Given the description of an element on the screen output the (x, y) to click on. 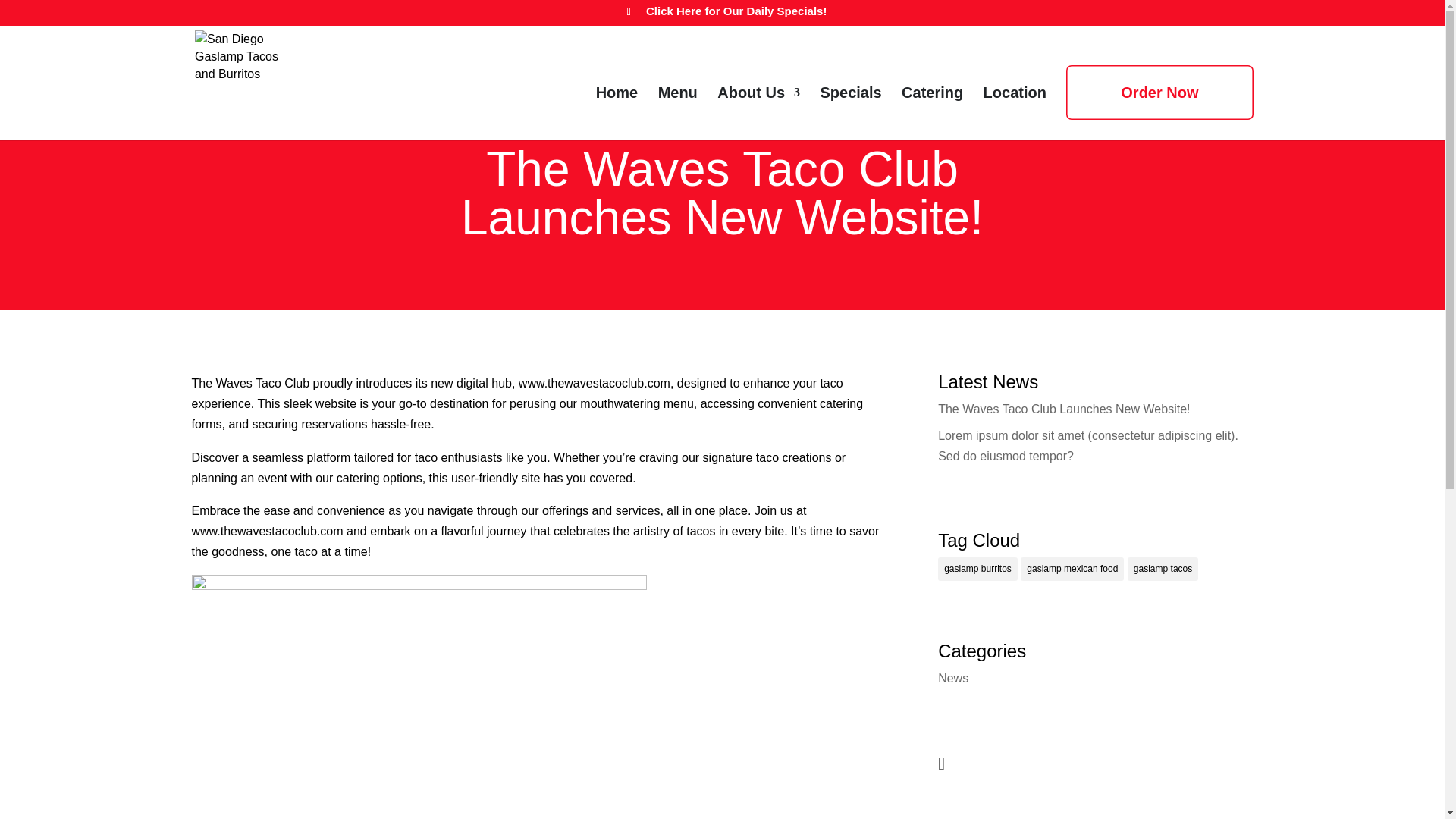
Location (1015, 113)
www.thewavestacoclub.com (266, 530)
gaslamp tacos (1162, 568)
Order Now (1158, 92)
News (952, 677)
The Waves Taco Club Launches New Website! (1063, 408)
gaslamp burritos (977, 568)
About Us (758, 113)
Specials (851, 113)
Catering (931, 113)
